Given the description of an element on the screen output the (x, y) to click on. 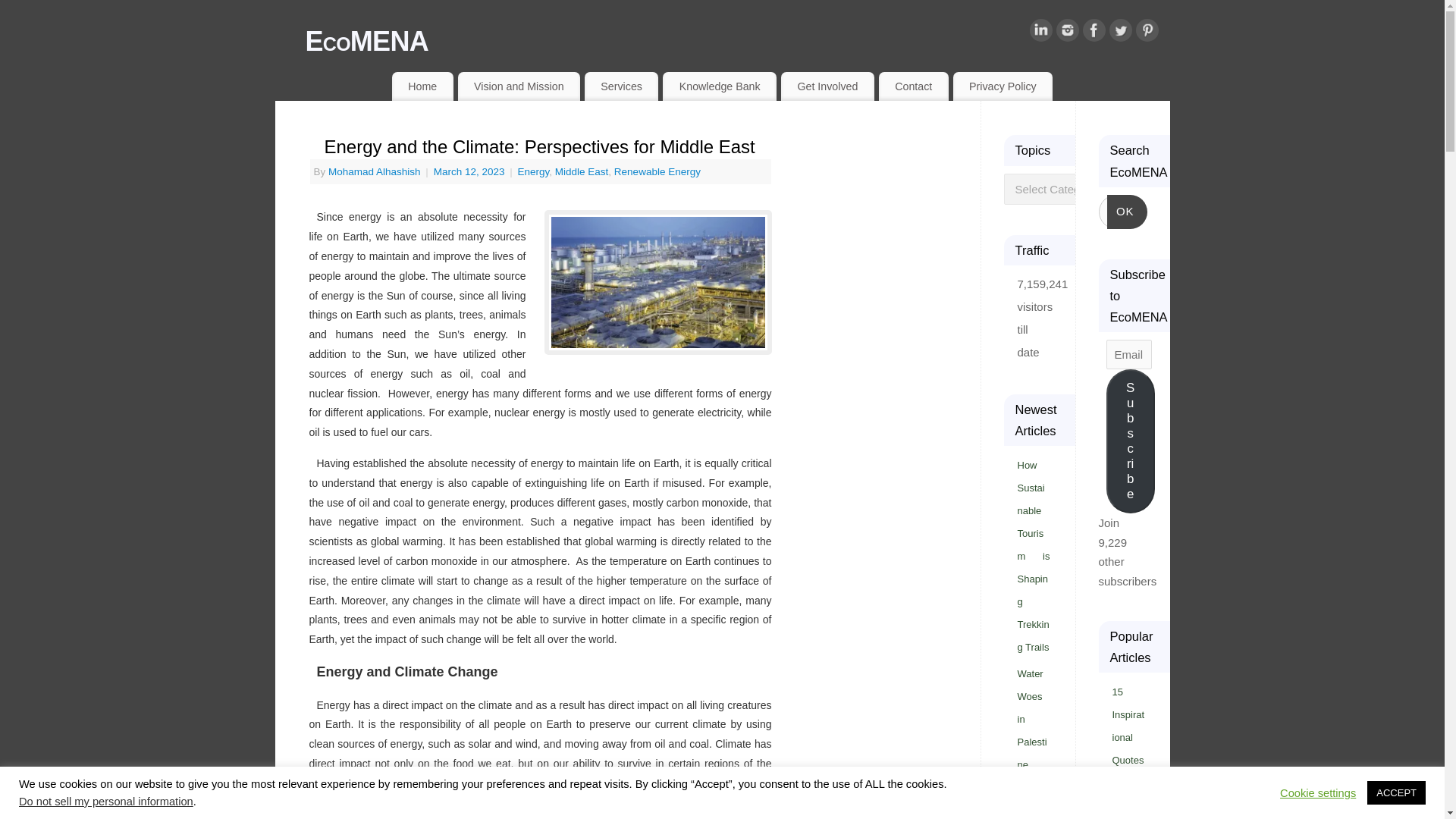
Vision and Mission (518, 86)
EcoMENA (736, 41)
March 12, 2023 (470, 171)
ruwais-oilfield-abudhabi (657, 281)
Privacy Policy (1002, 86)
EcoMENA (736, 41)
Home (421, 86)
Contact (914, 86)
Services (621, 86)
Mohamad Alhashish (374, 171)
